Given the description of an element on the screen output the (x, y) to click on. 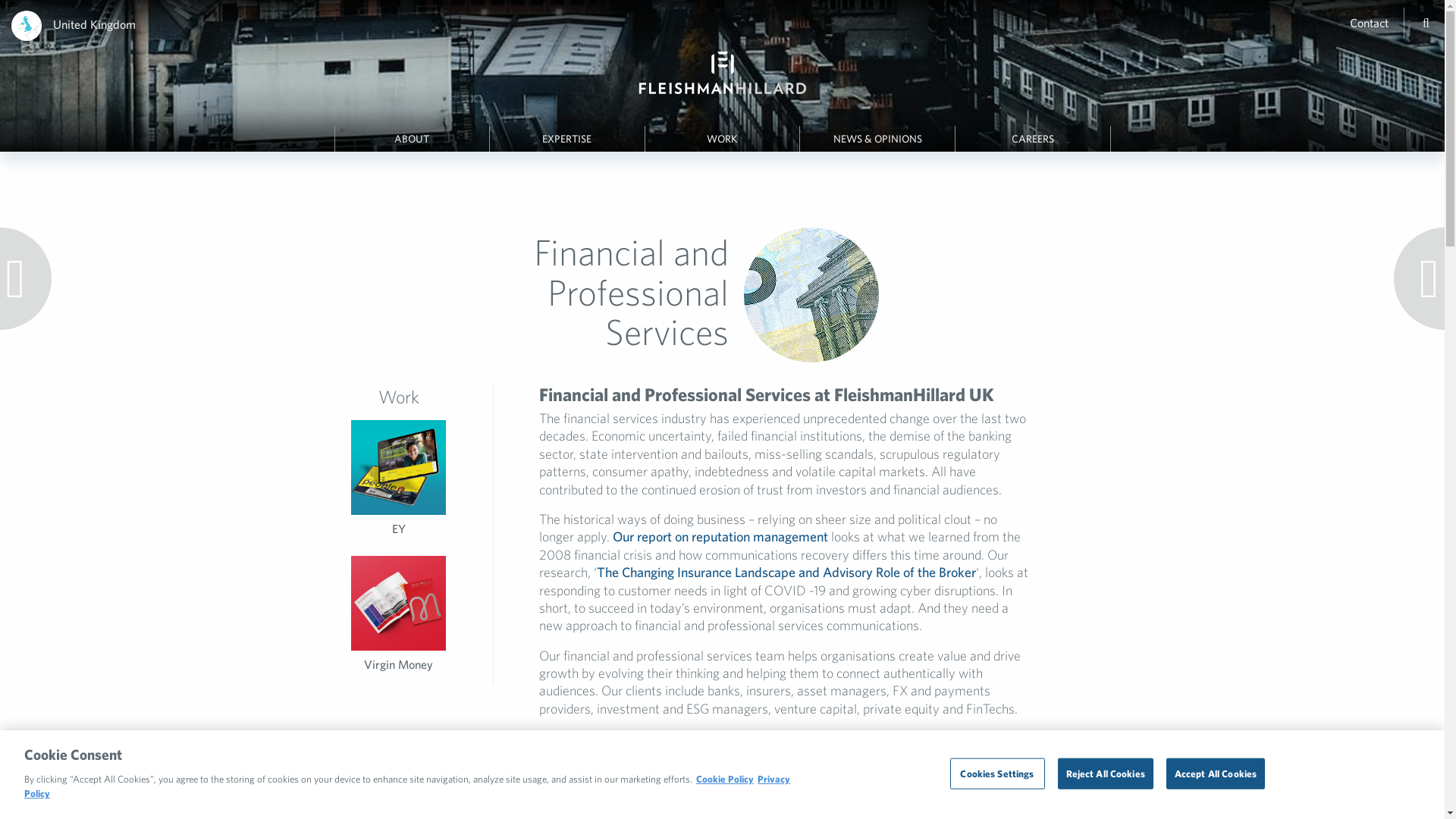
EY (398, 528)
WORK (722, 138)
ABOUT (411, 138)
Our report on reputation management (720, 536)
CAREERS (1032, 138)
Contact (1369, 22)
EXPERTISE (567, 138)
United Kingdom (93, 24)
